Given the description of an element on the screen output the (x, y) to click on. 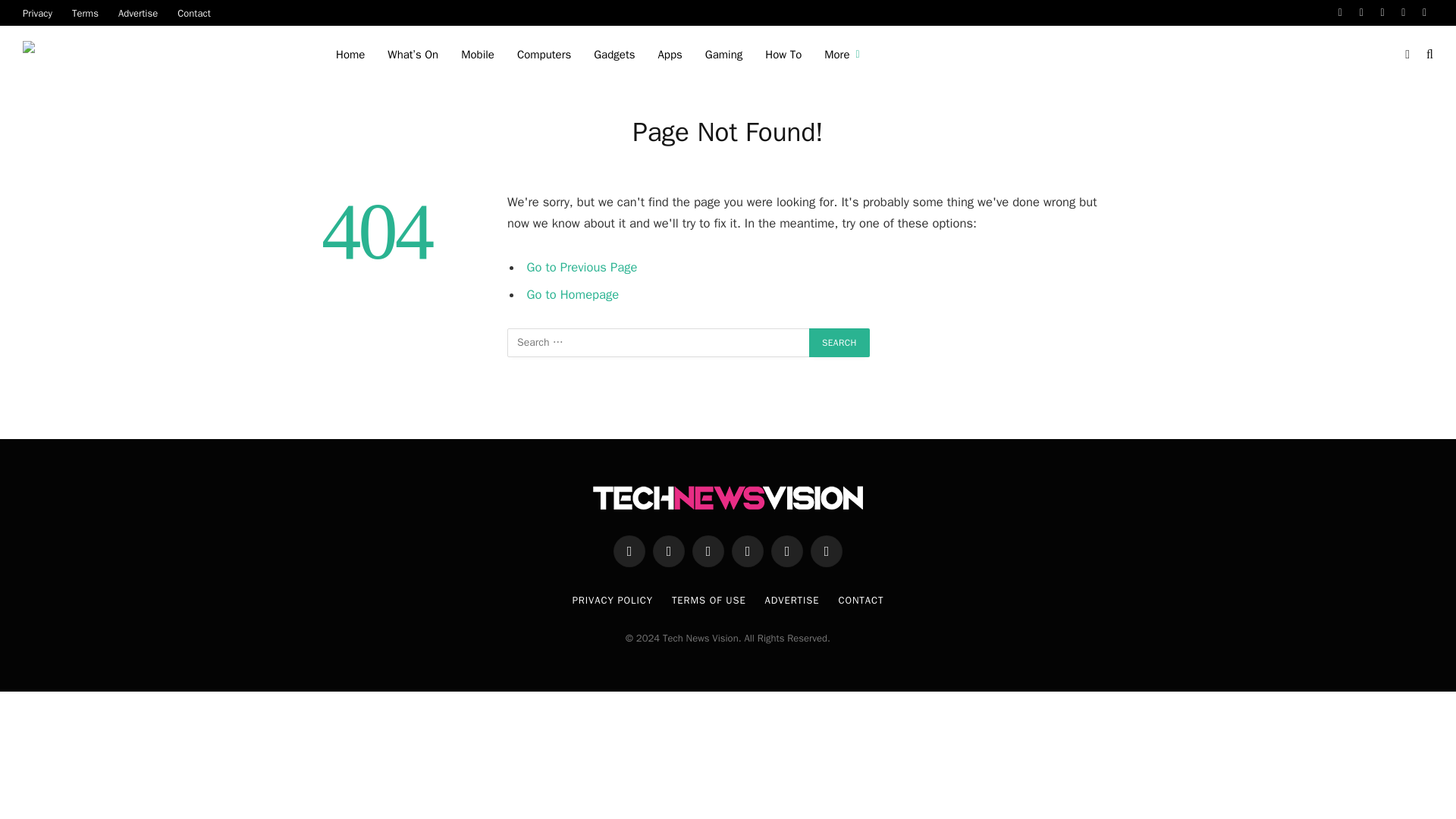
Gadgets (614, 54)
Search (839, 342)
Search (1427, 54)
Switch to Dark Design - easier on eyes. (1406, 54)
Search (839, 342)
Contact (194, 12)
Facebook (1340, 12)
Advertise (137, 12)
Apps (669, 54)
Home (349, 54)
Mobile (477, 54)
Pinterest (1403, 12)
VKontakte (1423, 12)
Privacy (37, 12)
